Given the description of an element on the screen output the (x, y) to click on. 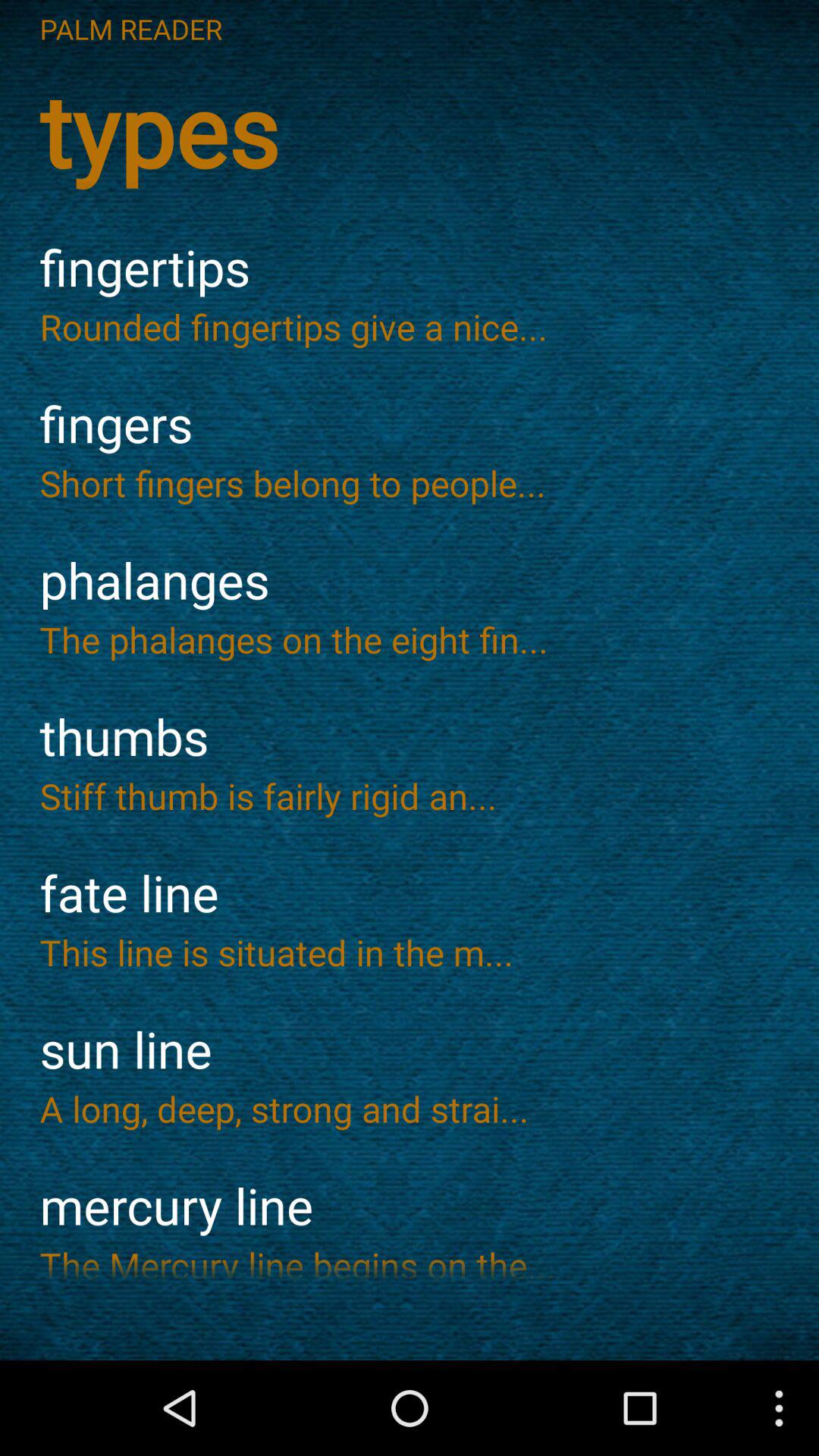
turn off the app above the stiff thumb is item (409, 736)
